Given the description of an element on the screen output the (x, y) to click on. 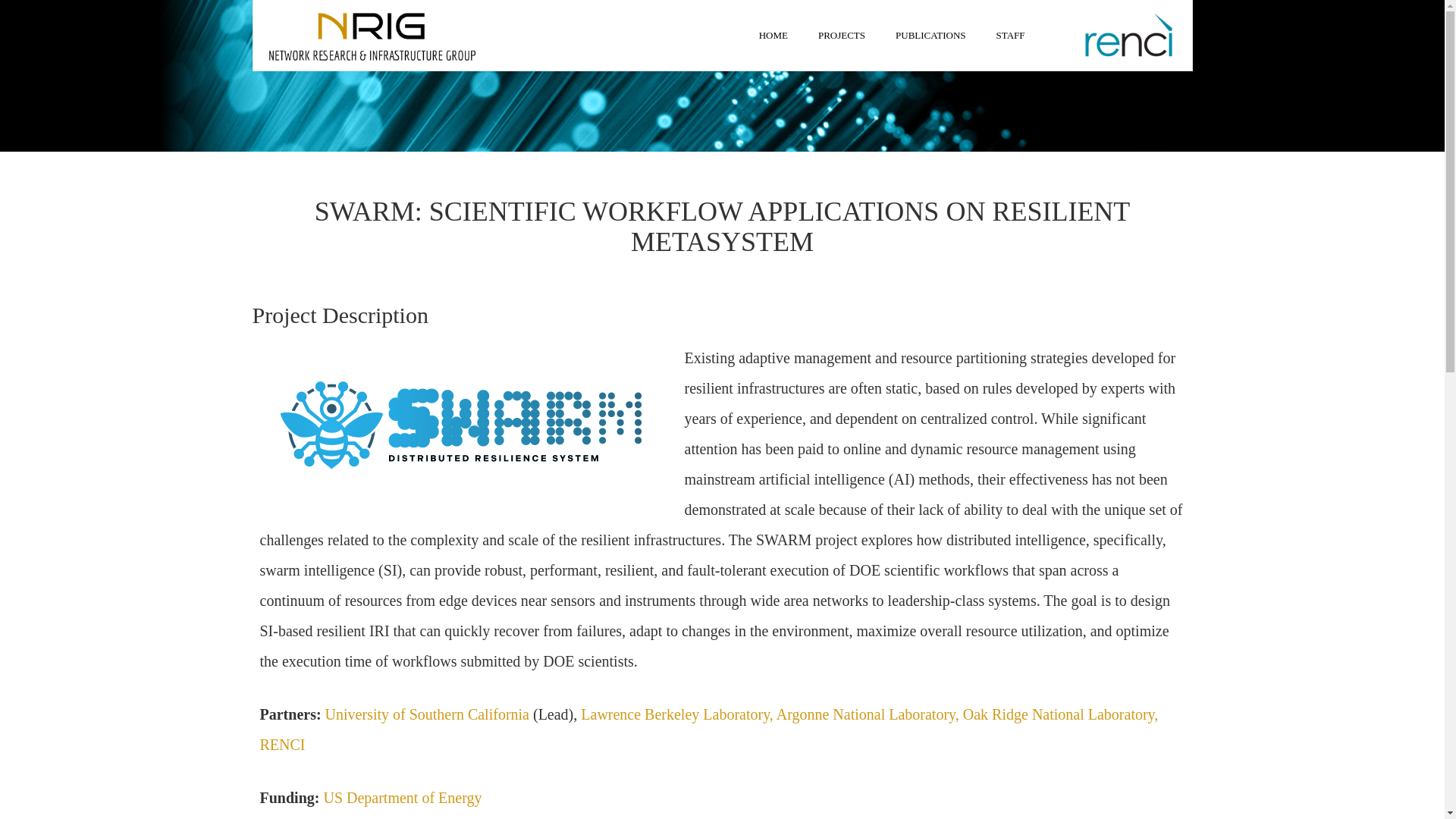
Argonne National Laboratory,  (869, 713)
Lawrence Berkeley Laboratory,  (678, 713)
PUBLICATIONS (929, 35)
RENCI (281, 744)
Oak Ridge National Laboratory, (1060, 713)
University of Southern California (426, 713)
PROJECTS (841, 35)
US Department of Energy (402, 797)
